Given the description of an element on the screen output the (x, y) to click on. 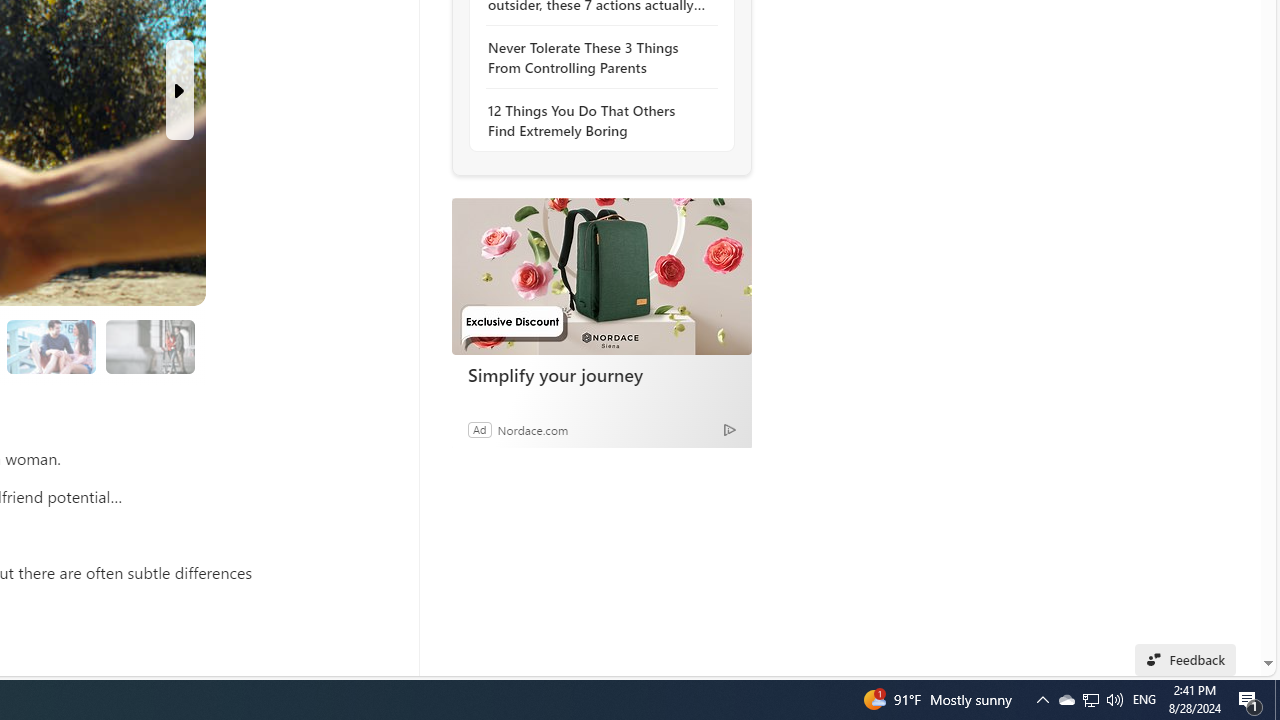
Nordace.com (532, 429)
12 Things You Do That Others Find Extremely Boring (596, 120)
3. People flirt with you and want your company. (51, 346)
Simplify your journey (601, 276)
Never Tolerate These 3 Things From Controlling Parents (596, 57)
7. She can communicate her needs and wants. (149, 346)
Class: progress (149, 343)
Simplify your journey (601, 374)
Next Slide (179, 89)
7. She can communicate her needs and wants. (150, 346)
